Given the description of an element on the screen output the (x, y) to click on. 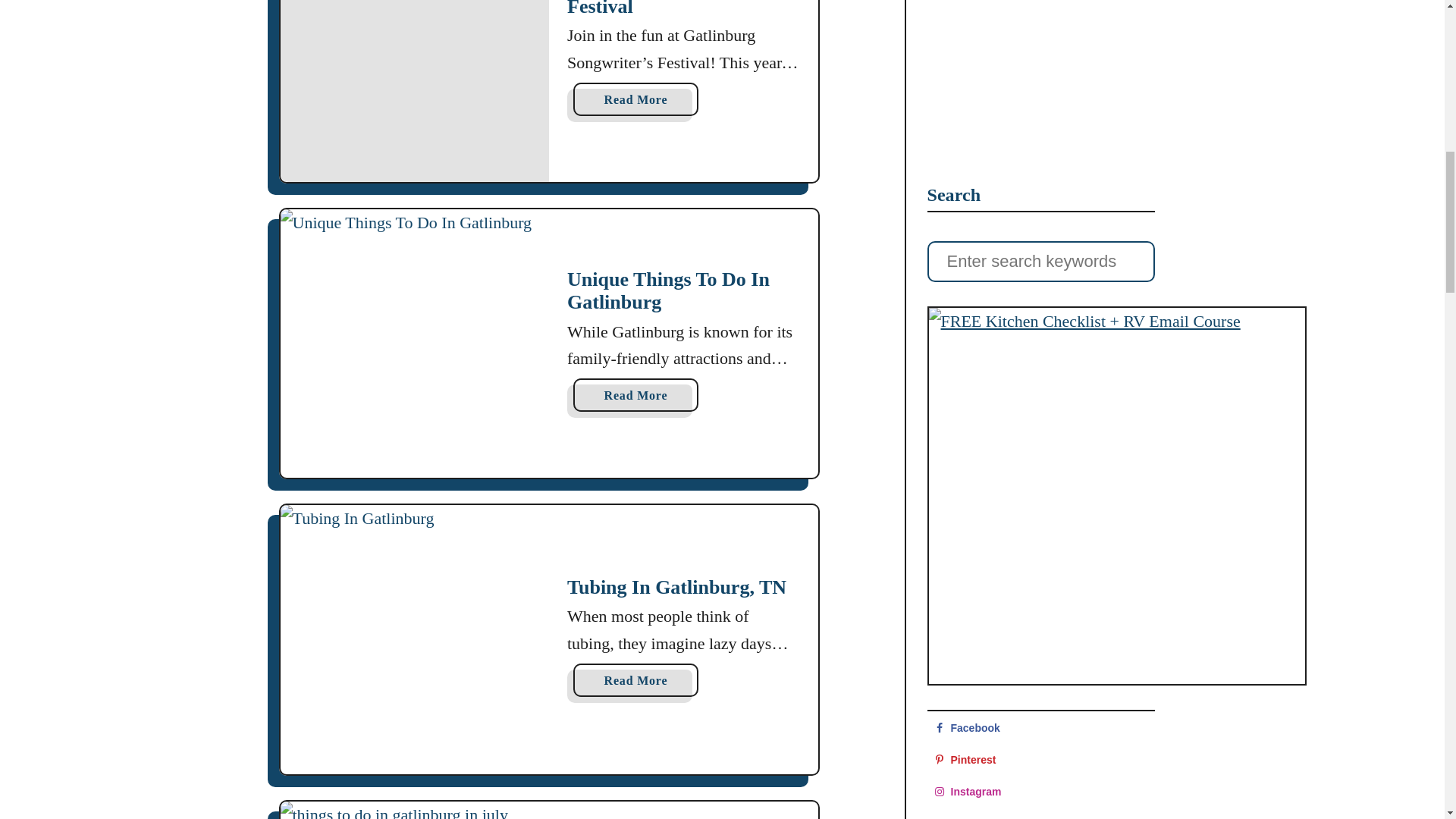
Search for: (635, 394)
Tubing In Gatlinburg, TN (635, 679)
Unique Things To Do In Gatlinburg (1040, 260)
Follow on Facebook (415, 639)
Best Things To Do In Gatlinburg In July (668, 290)
Follow on Pinterest (1040, 727)
Gatlinburg Songwriters Festival (415, 809)
Unique Things To Do In Gatlinburg (1040, 759)
Tubing In Gatlinburg, TN (635, 99)
Gatlinburg Songwriters Festival (667, 8)
